Given the description of an element on the screen output the (x, y) to click on. 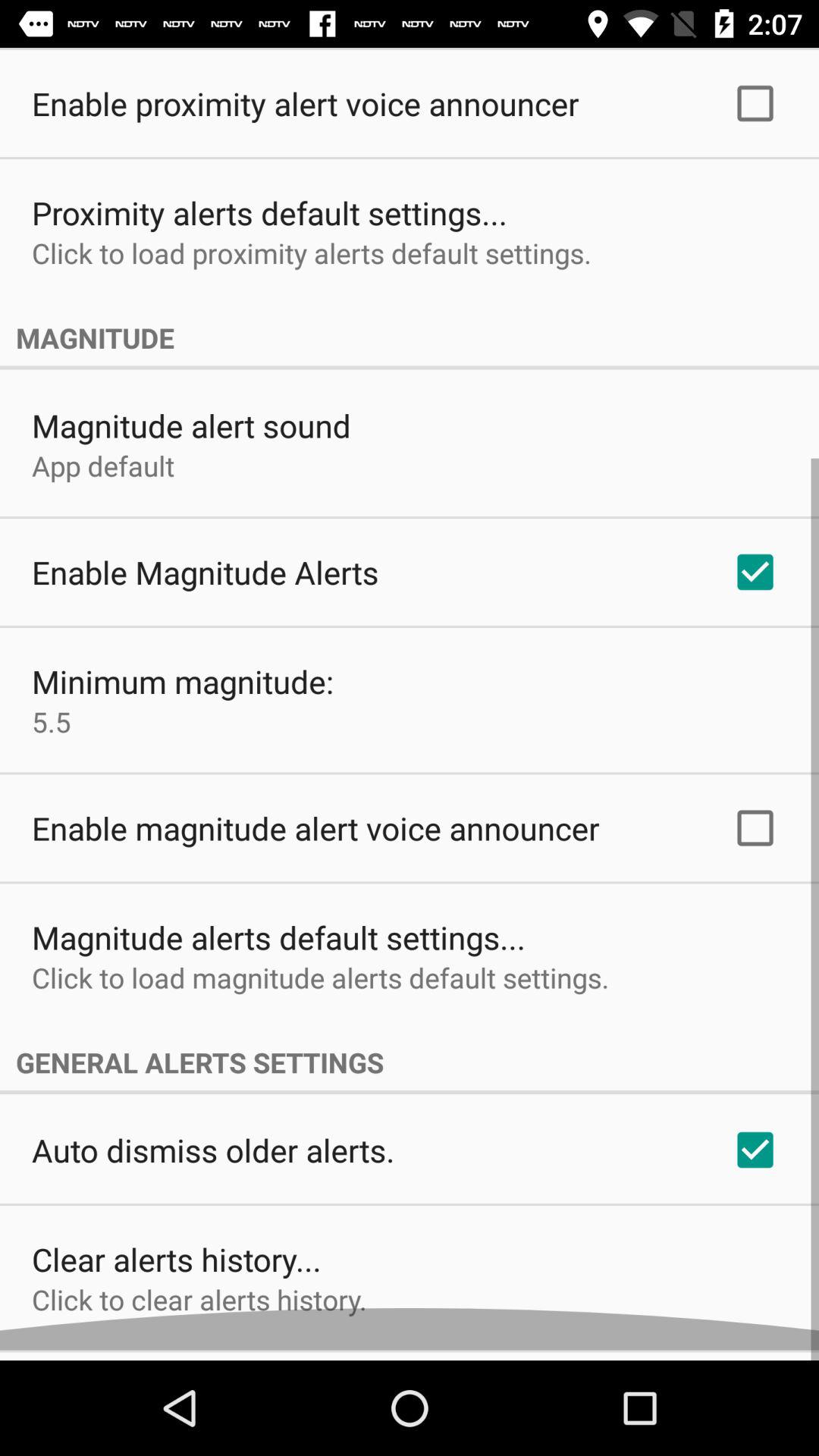
select the item below enable magnitude alerts icon (182, 691)
